Given the description of an element on the screen output the (x, y) to click on. 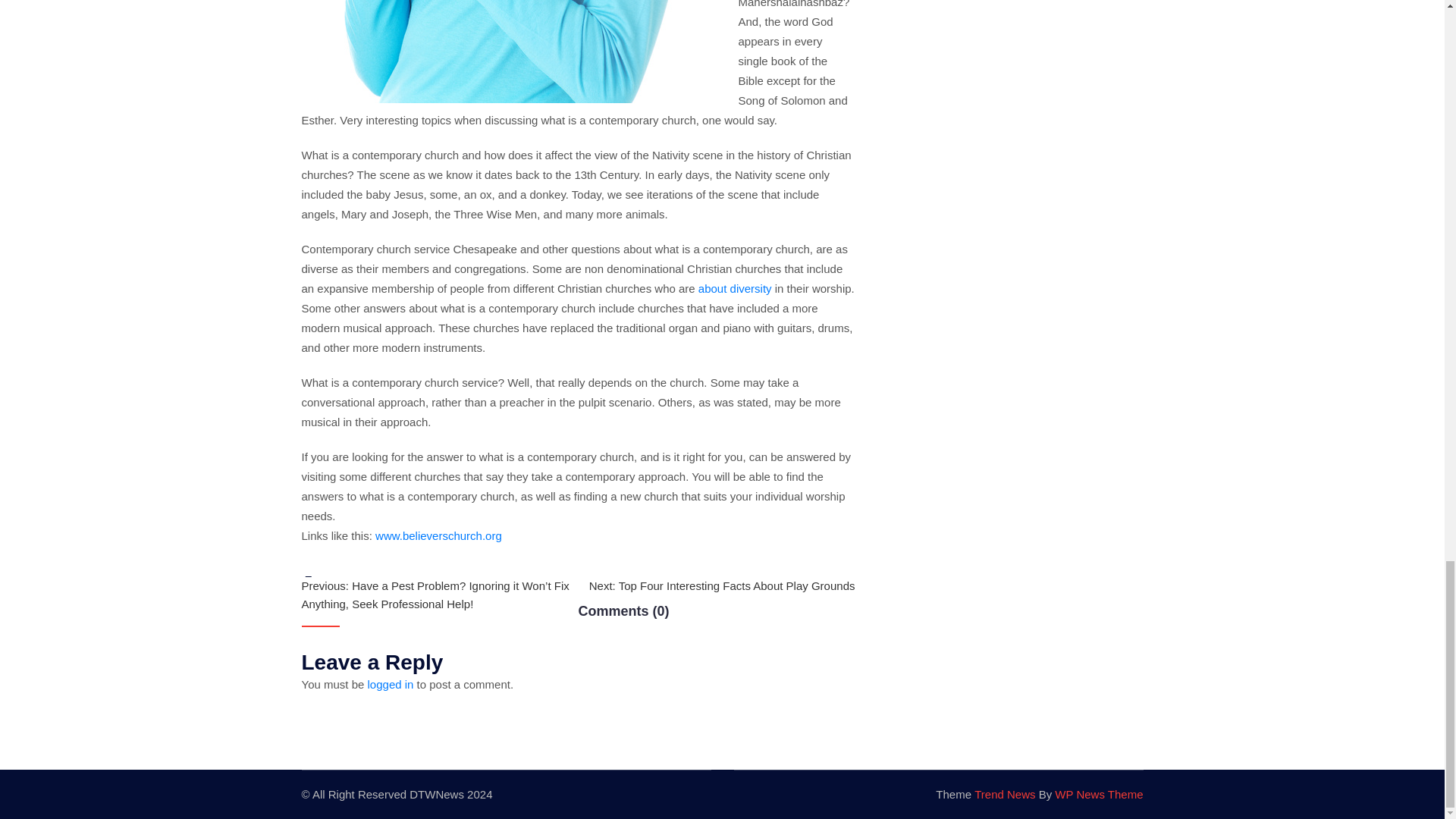
about diversity (734, 287)
Find more information regarding Modern christian churches (734, 287)
